Given the description of an element on the screen output the (x, y) to click on. 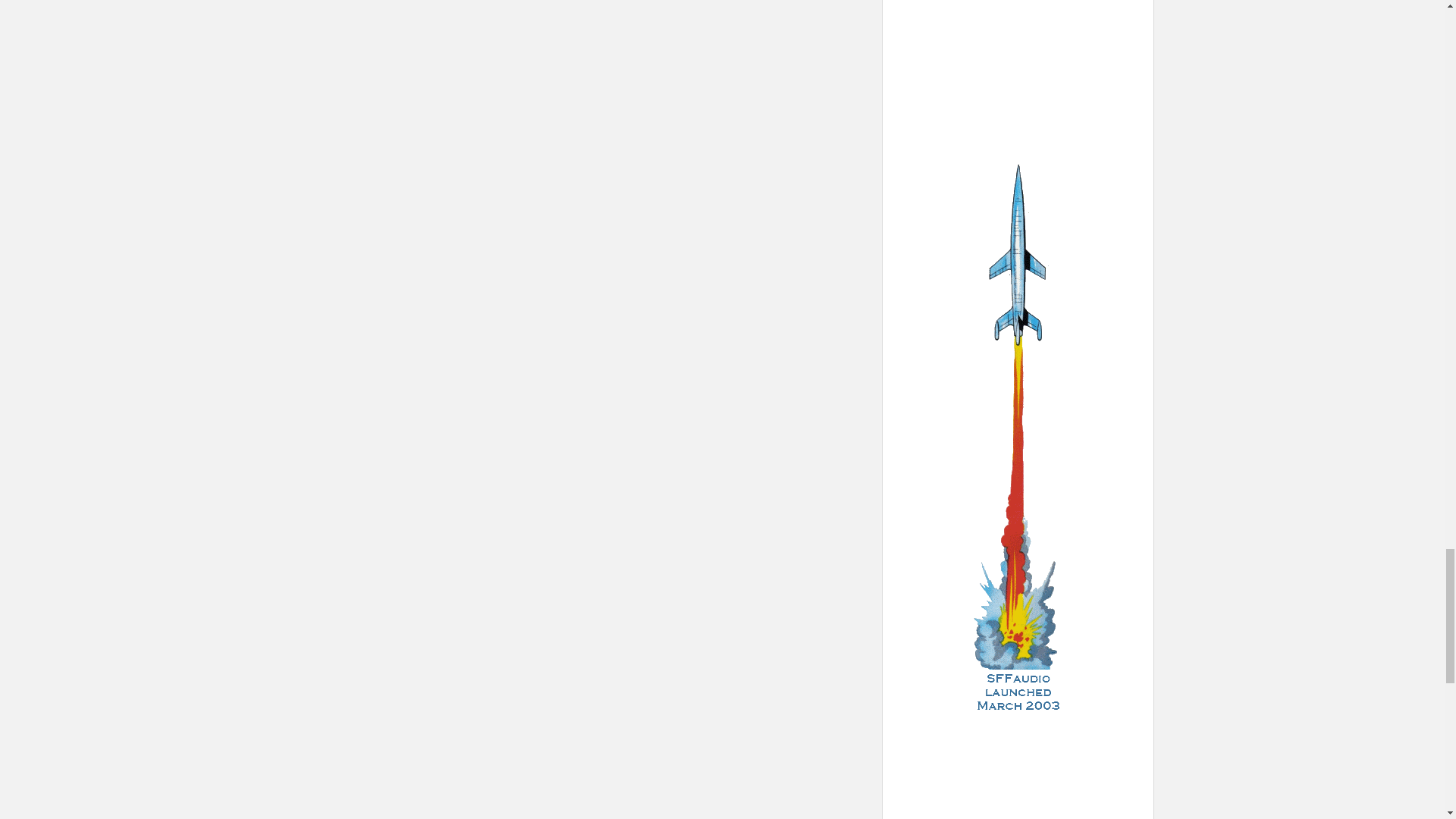
Advertisement (1018, 61)
